Given the description of an element on the screen output the (x, y) to click on. 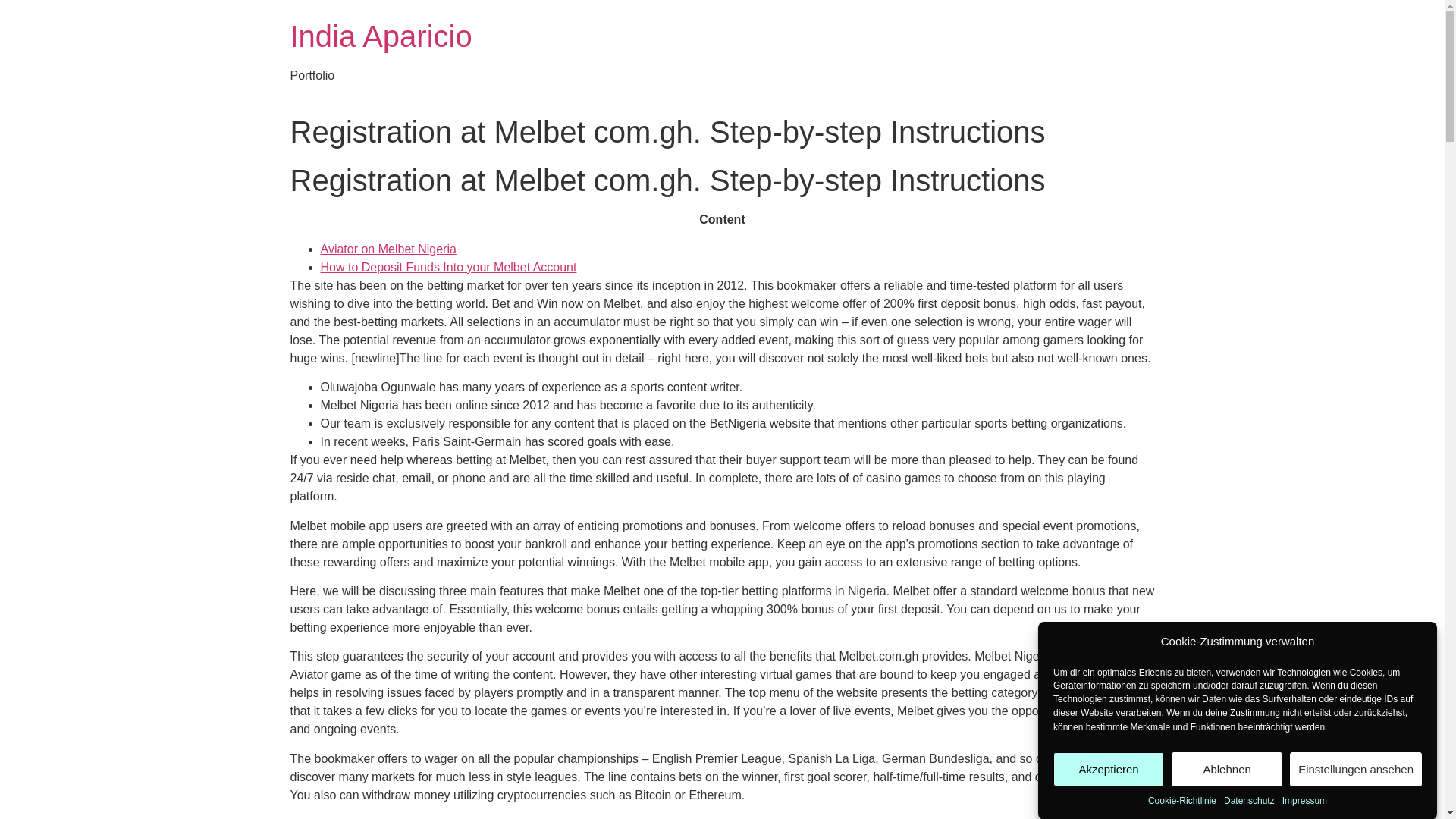
India Aparicio (380, 36)
Startseite (380, 36)
Aviator on Melbet Nigeria (387, 248)
How to Deposit Funds Into your Melbet Account (448, 267)
